Given the description of an element on the screen output the (x, y) to click on. 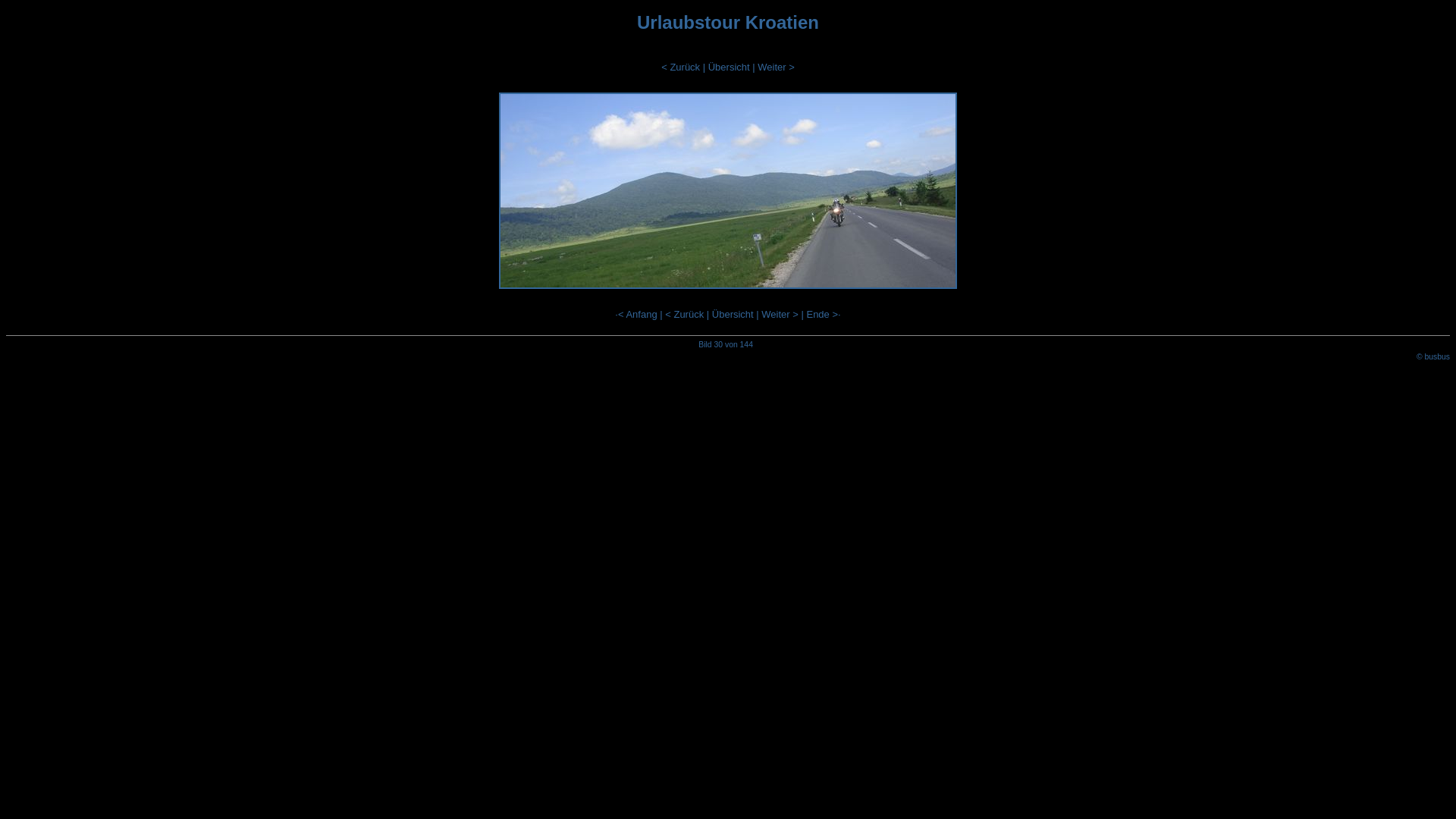
Weiter > Element type: text (779, 314)
Weiter > Element type: text (775, 66)
